Given the description of an element on the screen output the (x, y) to click on. 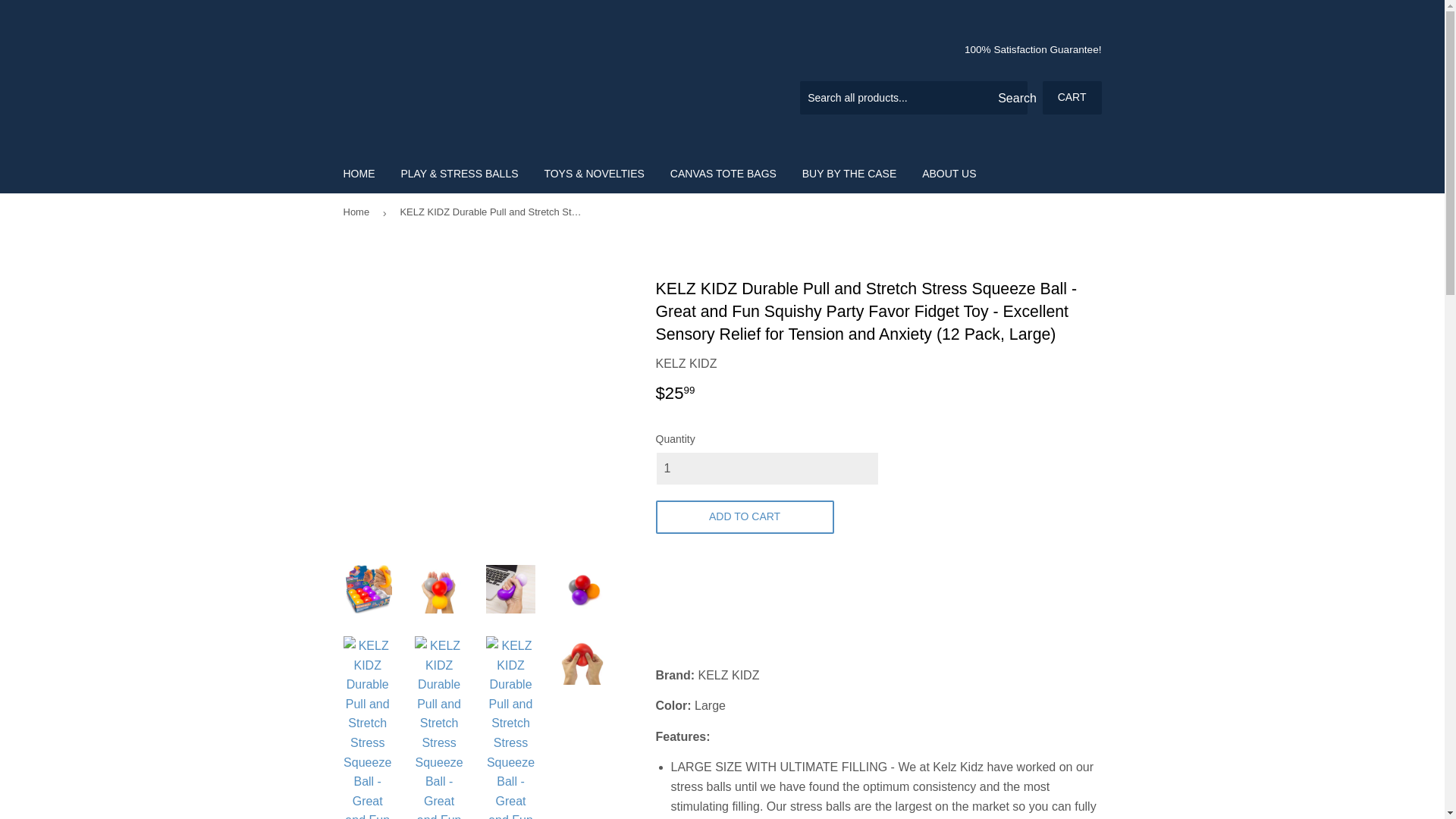
ADD TO CART (743, 516)
CANVAS TOTE BAGS (723, 172)
ABOUT US (949, 172)
HOME (359, 172)
Back to the frontpage (358, 212)
CART (1072, 97)
Search (1009, 98)
Home (358, 212)
BUY BY THE CASE (849, 172)
1 (766, 468)
